Given the description of an element on the screen output the (x, y) to click on. 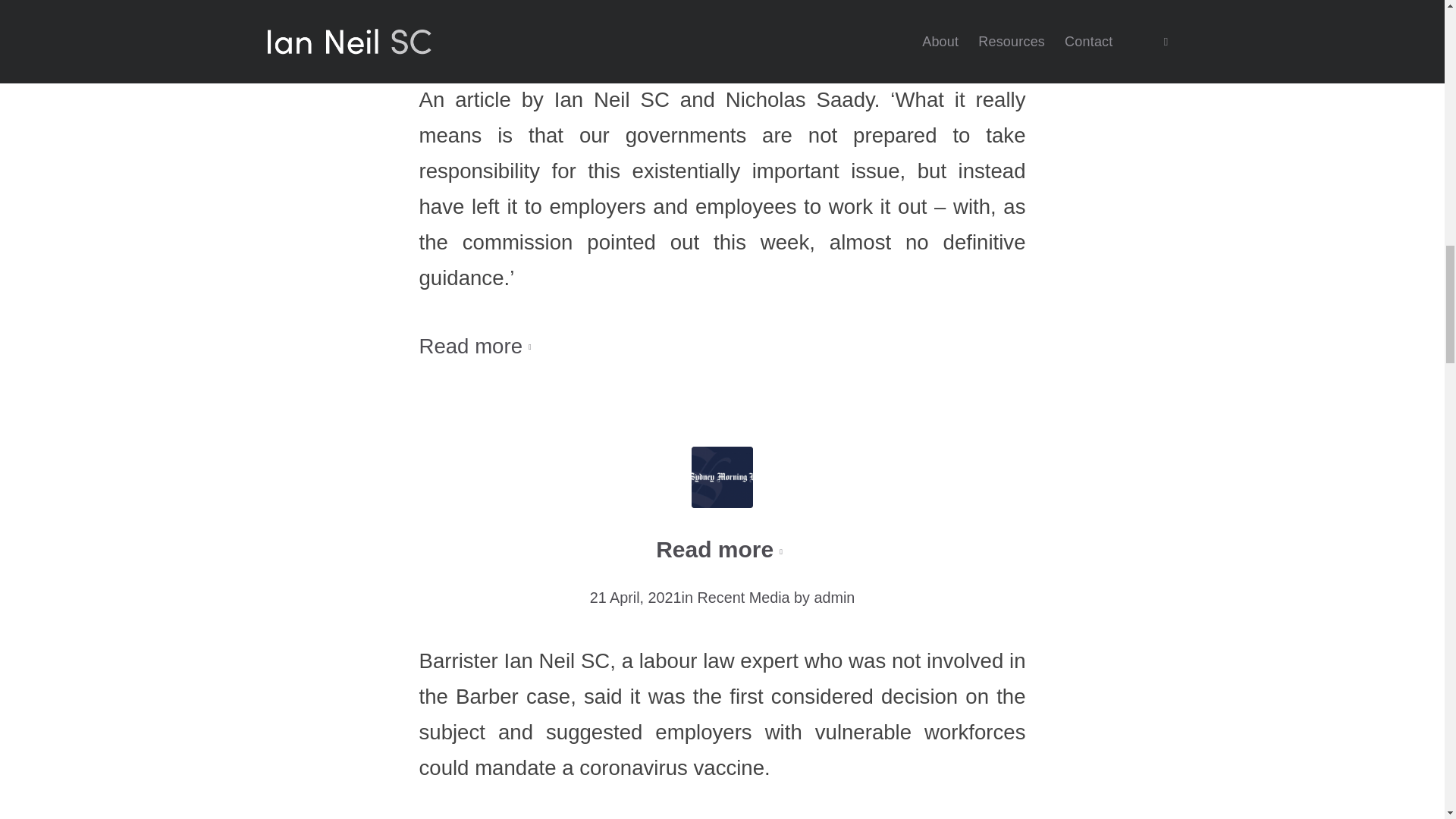
Read more (478, 347)
Read more (722, 550)
Read more (722, 2)
Posts by admin (833, 36)
Posts by admin (833, 597)
admin (833, 36)
POST-SMH (721, 476)
Recent Media (743, 597)
Recent Media (743, 36)
admin (833, 597)
